Given the description of an element on the screen output the (x, y) to click on. 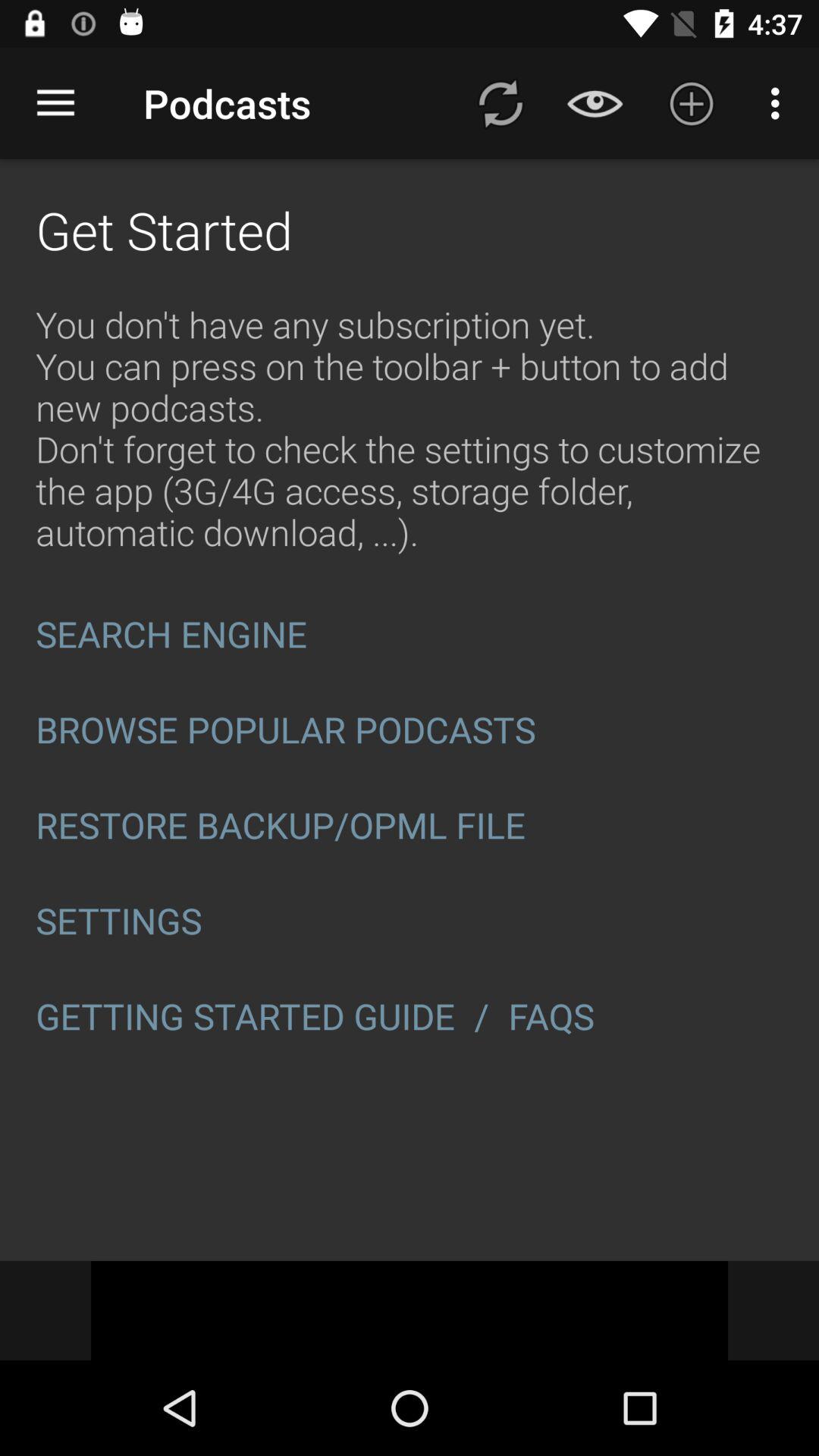
select the icon next to podcasts (55, 103)
